Given the description of an element on the screen output the (x, y) to click on. 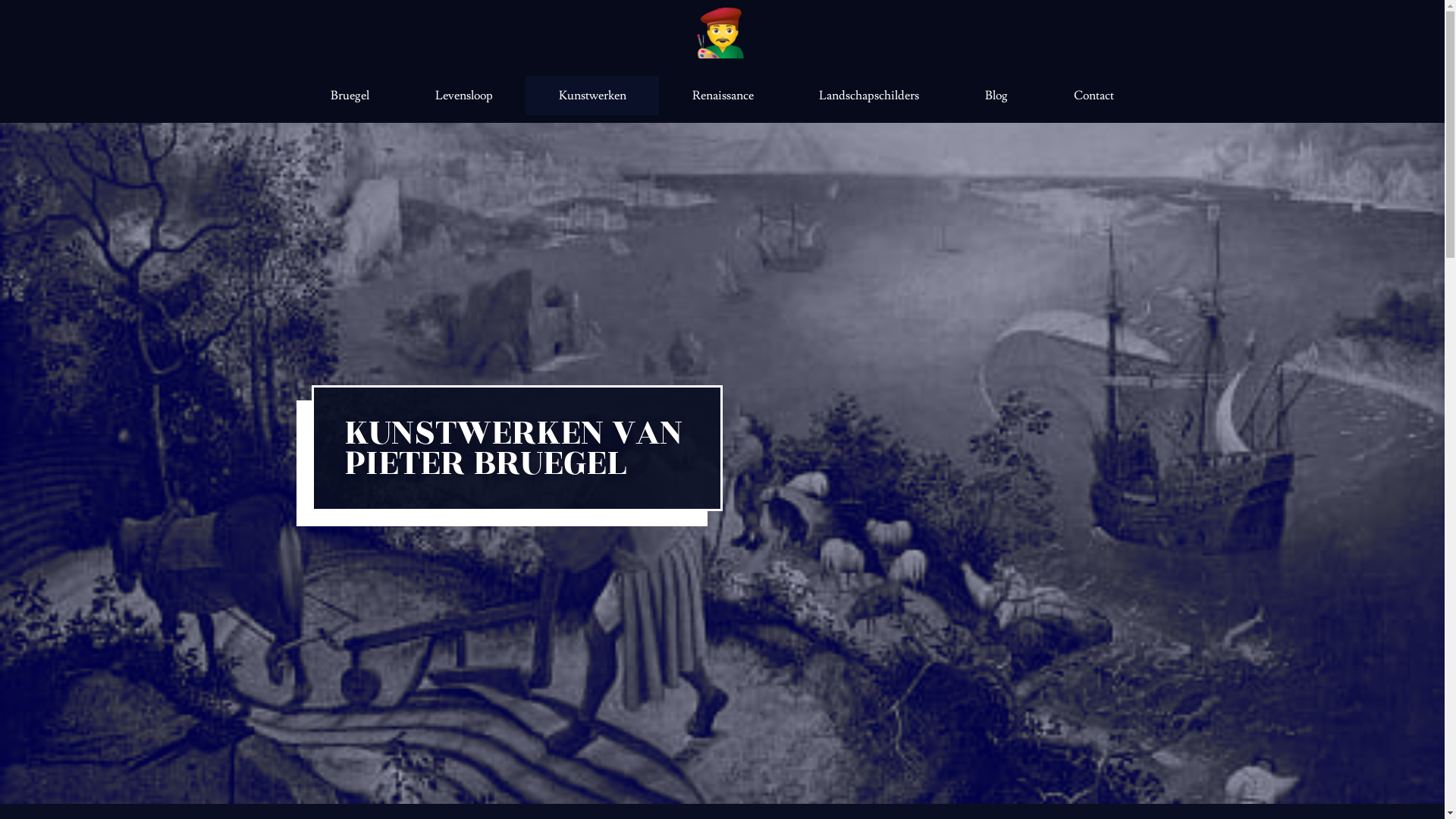
Kunstwerken Element type: text (591, 95)
Contact Element type: text (1094, 95)
Renaissance Element type: text (722, 95)
Landschapschilders Element type: text (869, 95)
Levensloop Element type: text (463, 95)
Blog Element type: text (996, 95)
Bruegel Element type: text (349, 95)
icons8-man-artist-96 Element type: hover (722, 33)
